Given the description of an element on the screen output the (x, y) to click on. 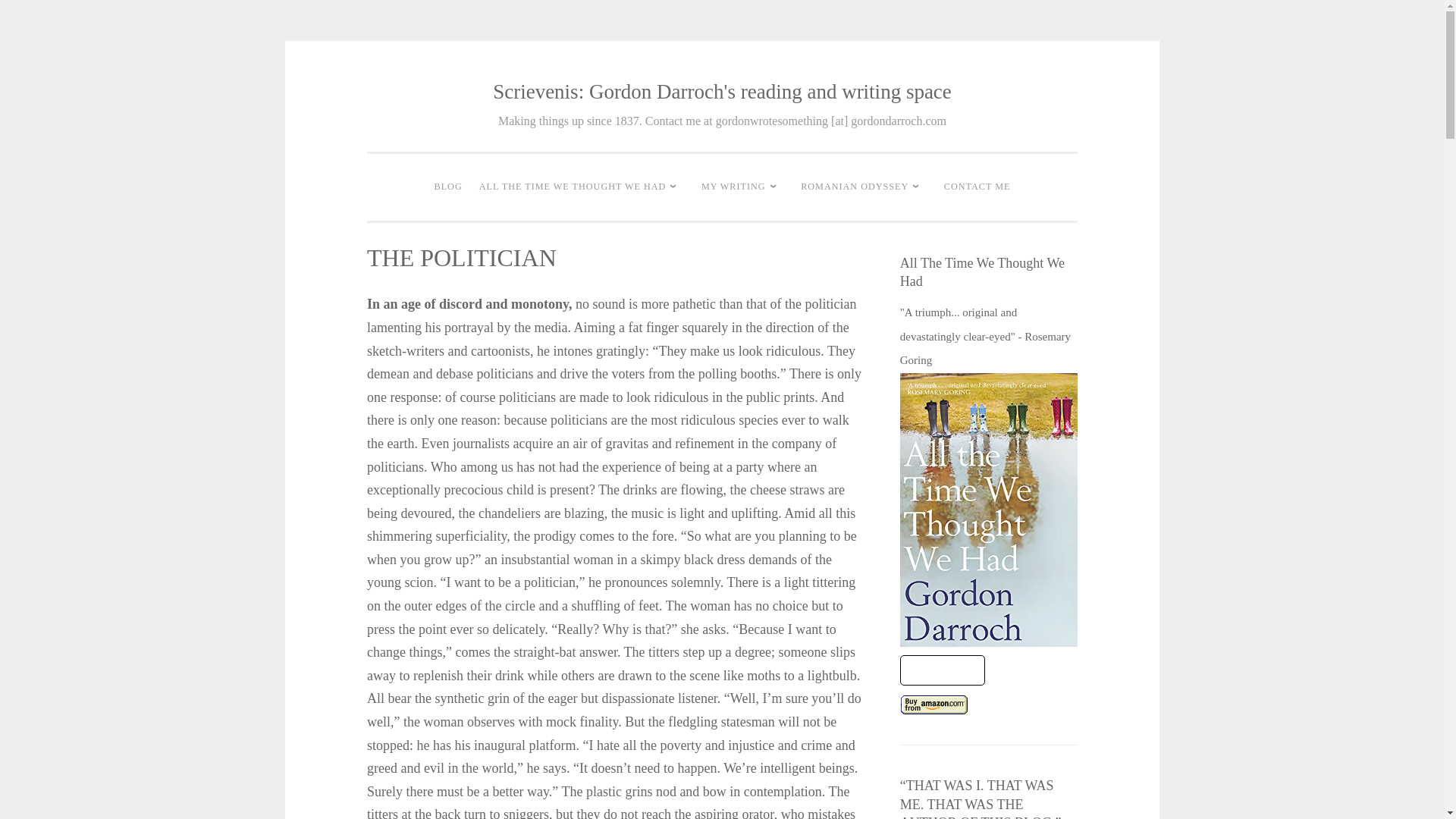
BLOG (448, 186)
ALL THE TIME WE THOUGHT WE HAD (581, 186)
ROMANIAN ODYSSEY (863, 186)
CONTACT ME (977, 186)
Buy from Amazon.com (933, 704)
Search (39, 16)
MY WRITING (742, 186)
Scrievenis: Gordon Darroch's reading and writing space (722, 91)
